Given the description of an element on the screen output the (x, y) to click on. 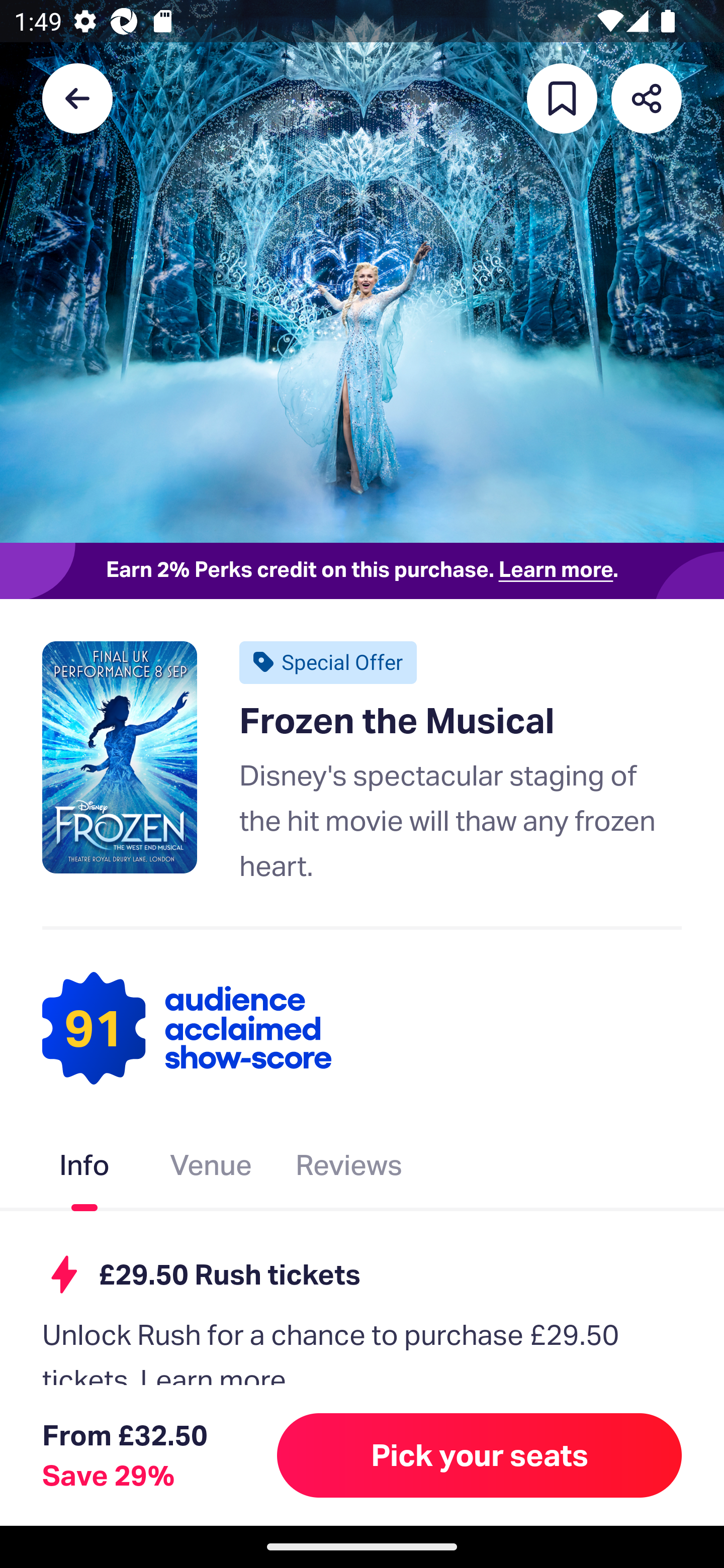
Earn 2% Perks credit on this purchase. Learn more. (362, 570)
Venue (210, 1168)
Reviews (348, 1168)
Pick your seats (479, 1454)
